Given the description of an element on the screen output the (x, y) to click on. 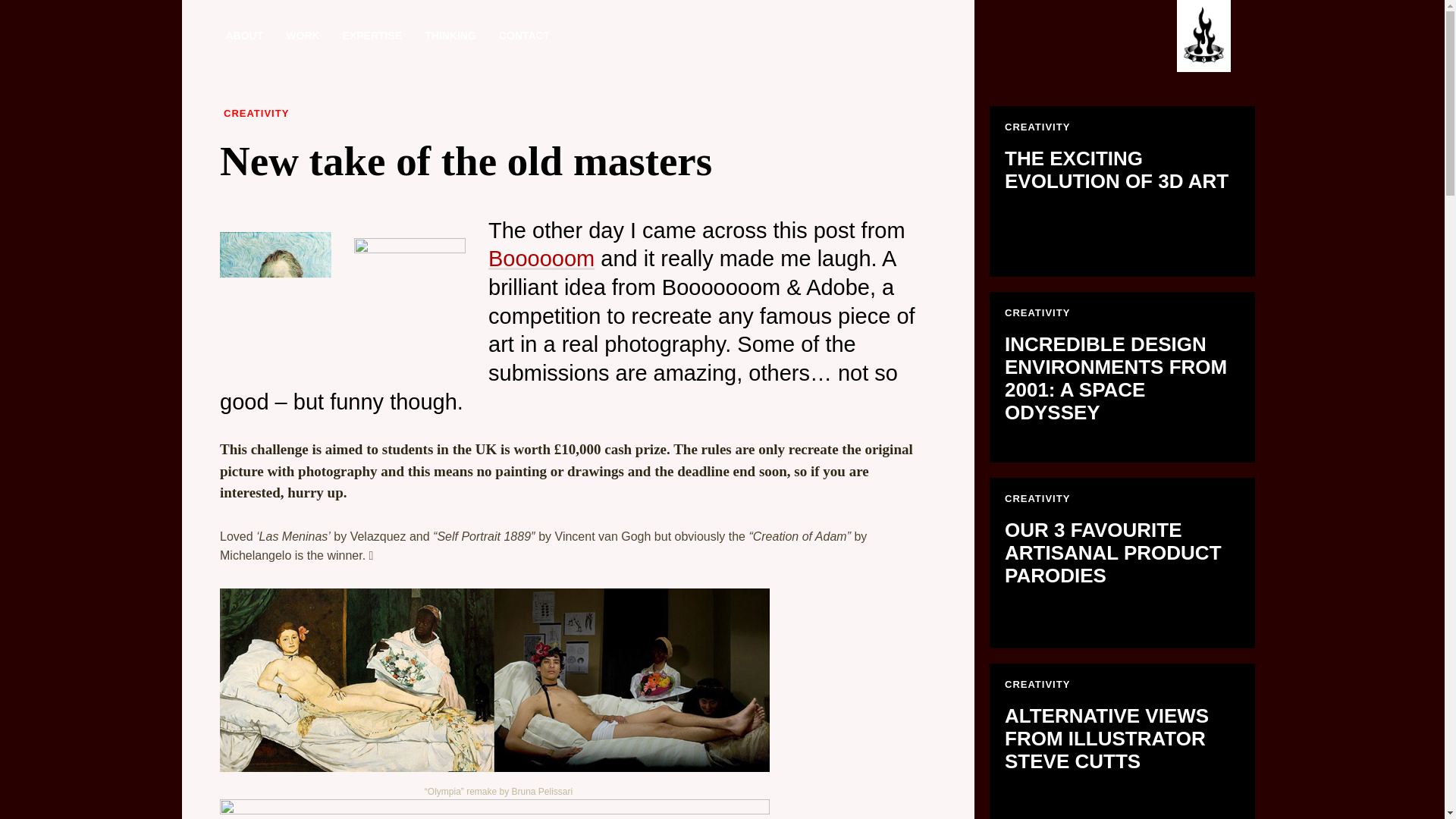
Alternative views from illustrator Steve Cutts (1122, 741)
Boooooom (540, 258)
About (244, 35)
Work (1122, 741)
Expertise (302, 35)
CONTACT (372, 35)
Incredible design environments from 2001: A Space Odyssey (523, 35)
THINKING (1122, 376)
ABOUT (450, 35)
